Given the description of an element on the screen output the (x, y) to click on. 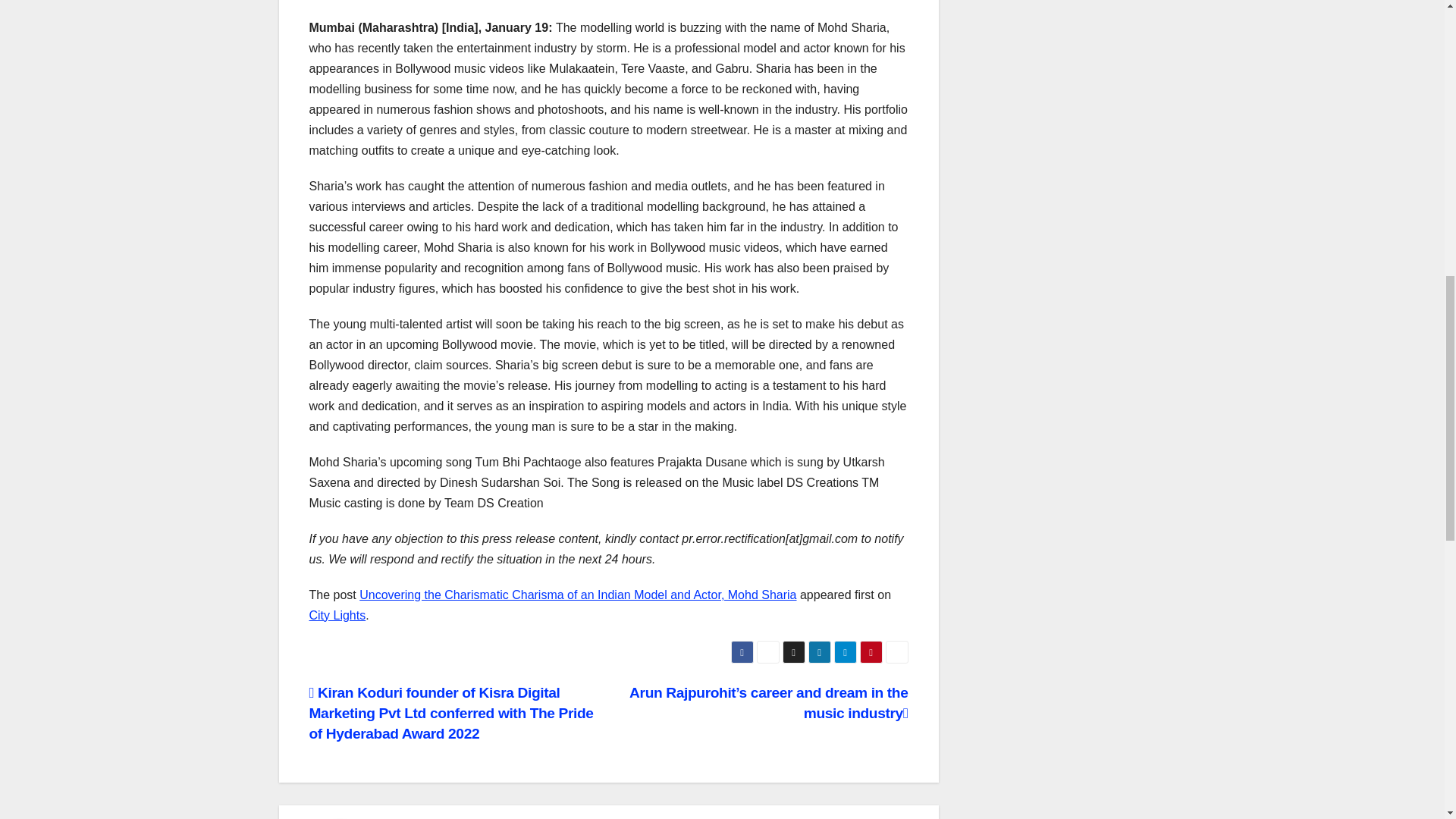
City Lights (337, 615)
